Given the description of an element on the screen output the (x, y) to click on. 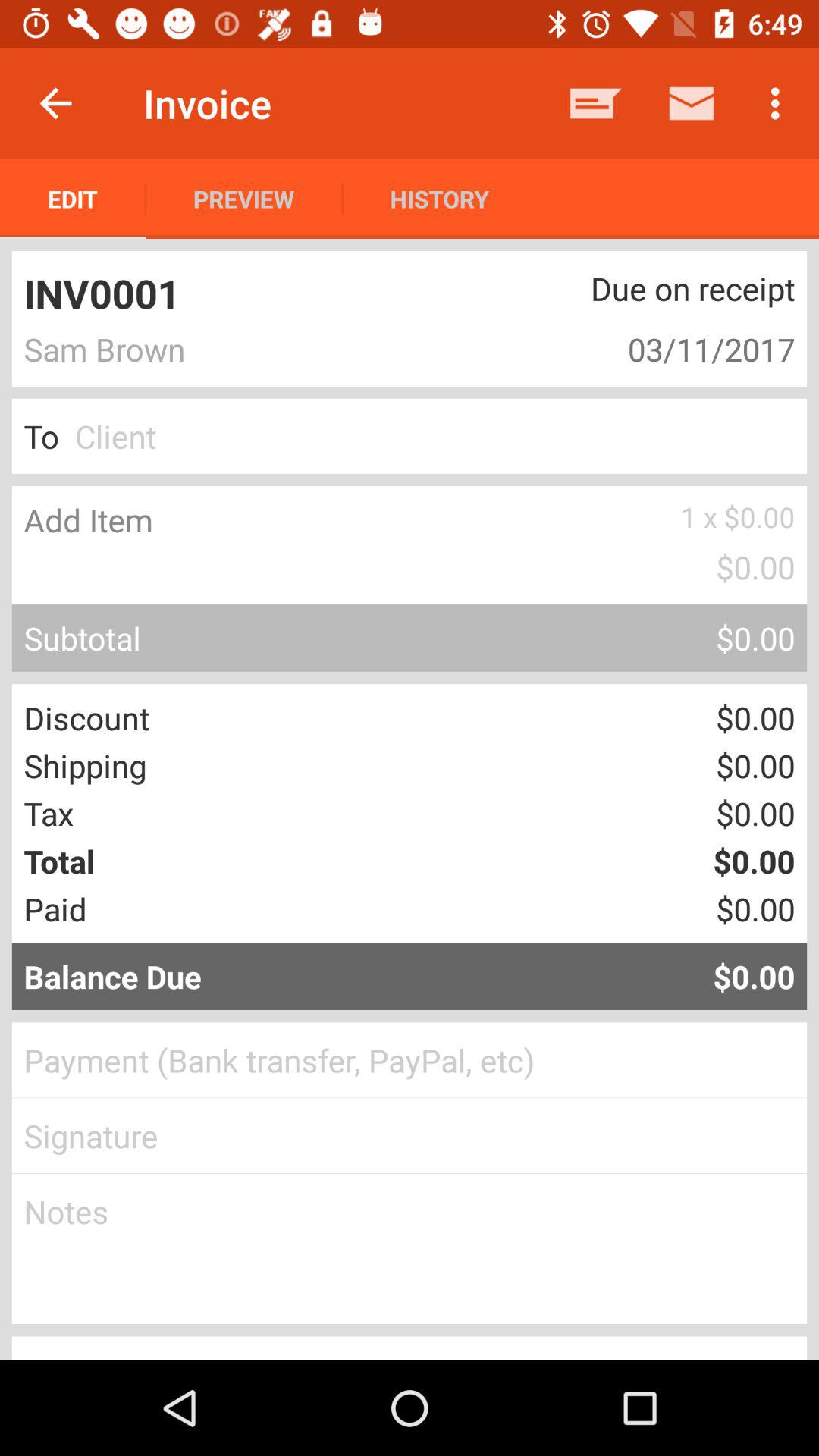
tap icon to the left of the invoice icon (55, 103)
